Given the description of an element on the screen output the (x, y) to click on. 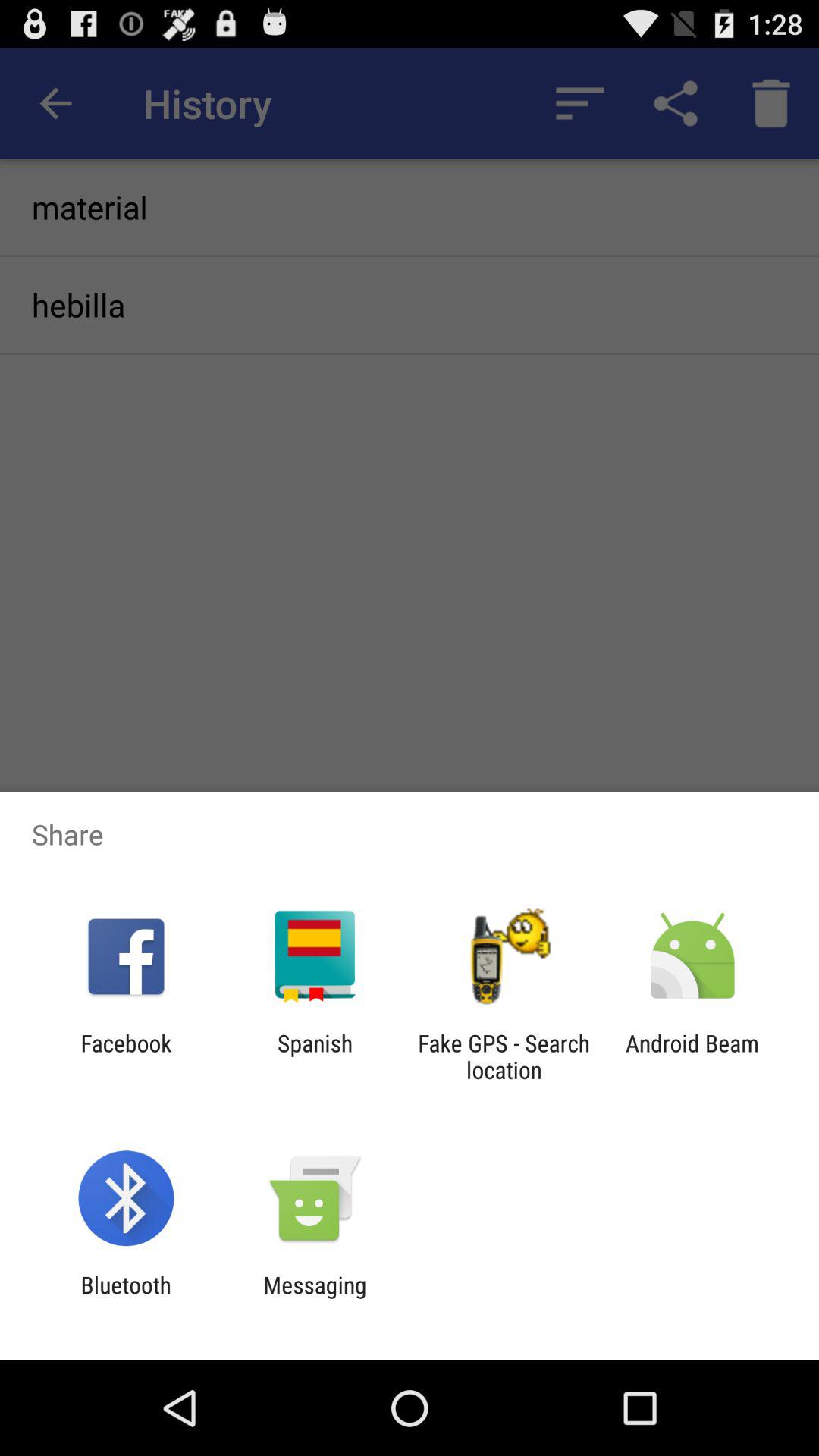
swipe until the facebook app (125, 1056)
